Given the description of an element on the screen output the (x, y) to click on. 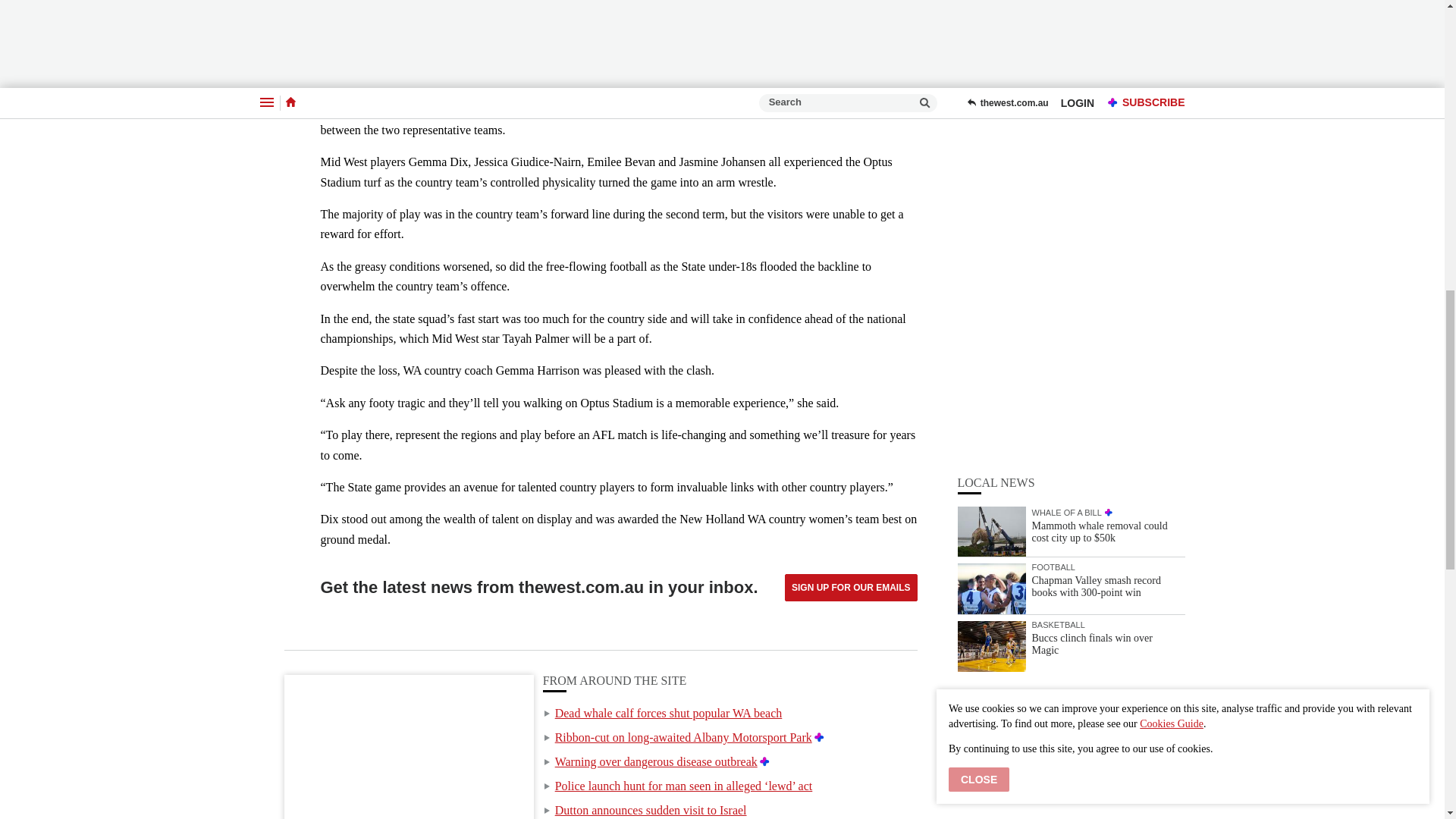
PREMIUM (1108, 158)
Premium (818, 737)
Premium (764, 761)
